Given the description of an element on the screen output the (x, y) to click on. 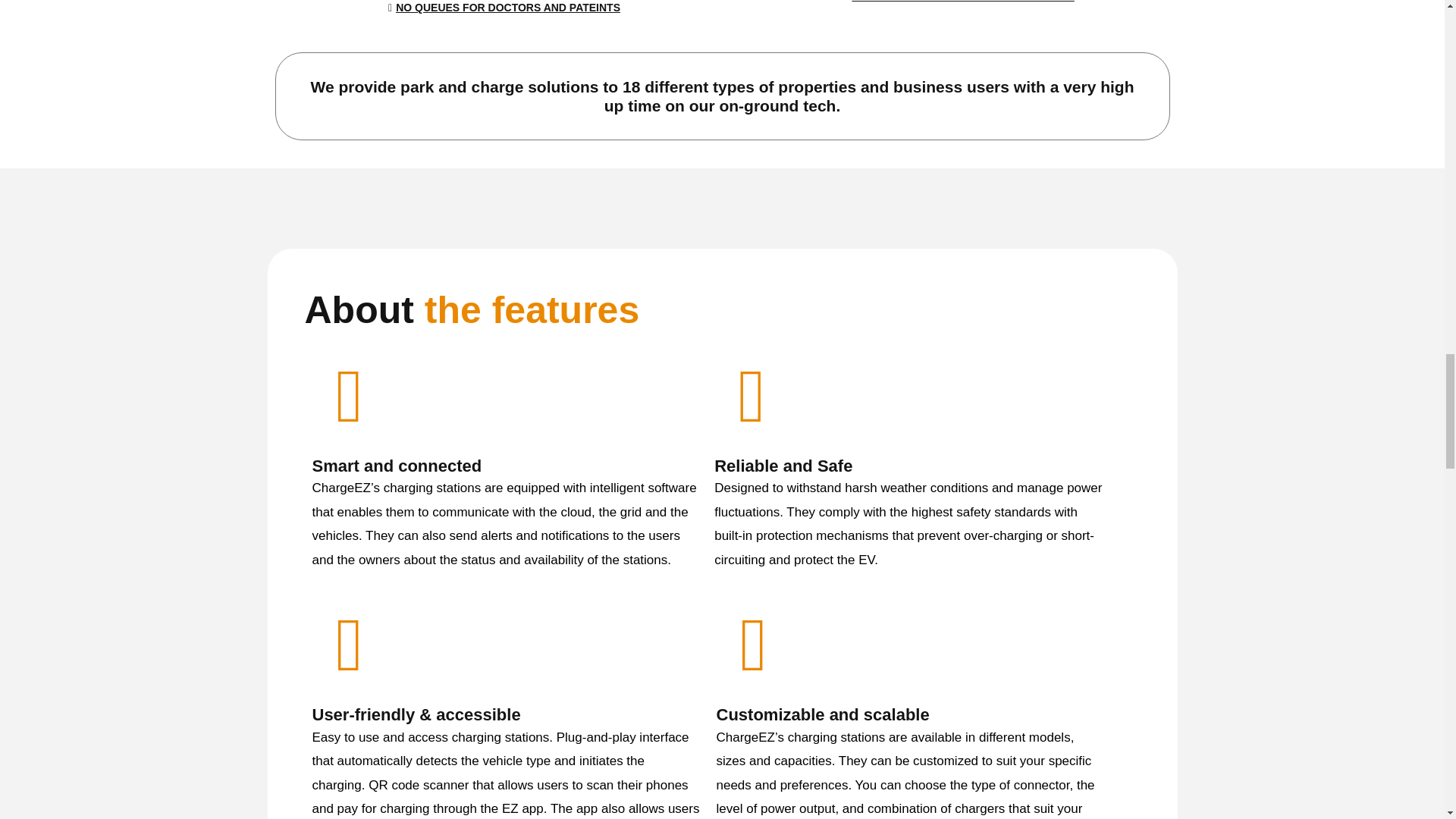
Smart and connected (397, 465)
Customizable and scalable (822, 714)
NO QUEUES FOR DOCTORS AND PATEINTS (503, 12)
UPSELL CHARGING SLOTS WITH PARKING (959, 7)
Reliable and Safe (782, 465)
